Given the description of an element on the screen output the (x, y) to click on. 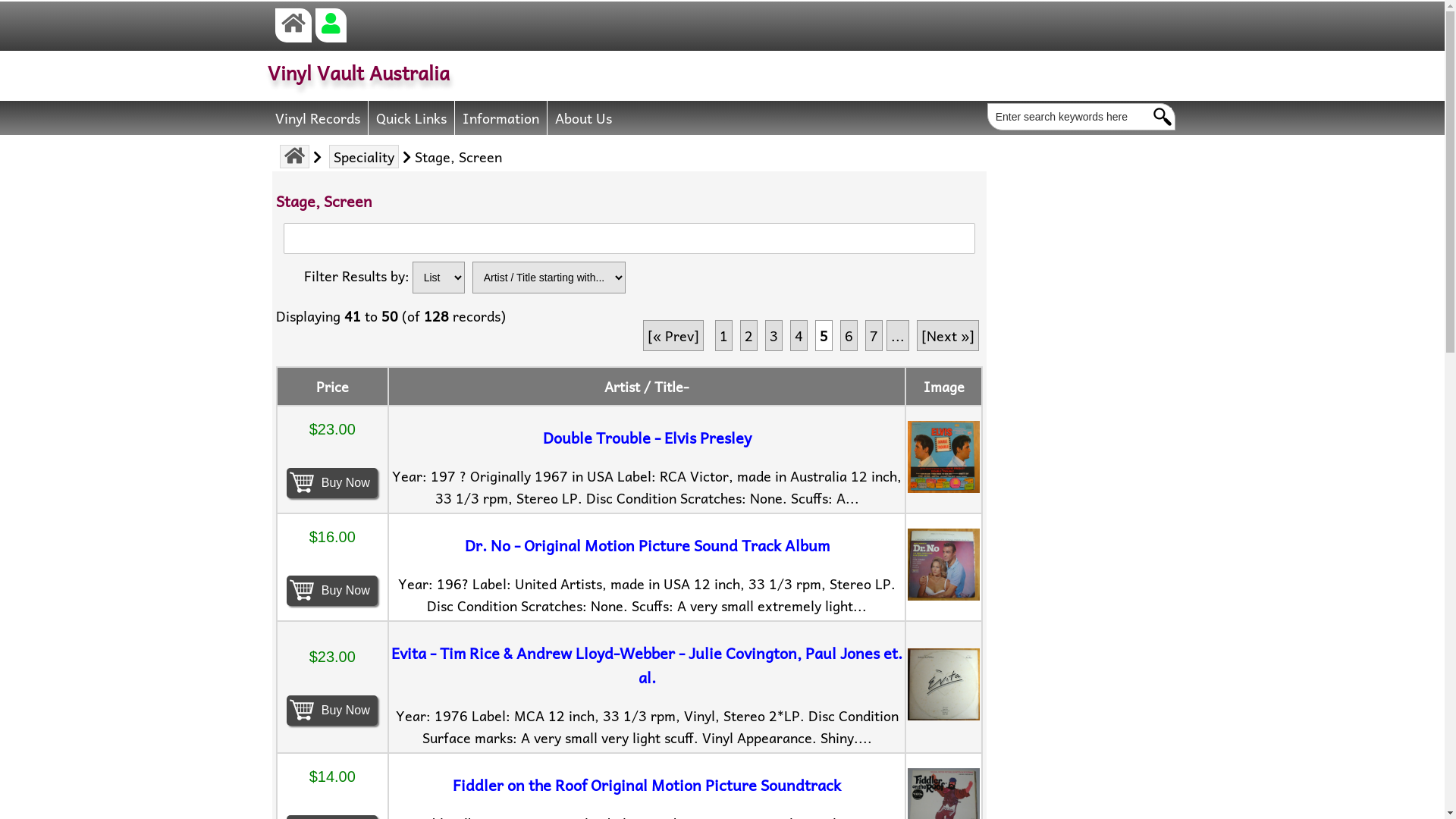
7 Element type: text (873, 335)
 Buy Now  Element type: text (332, 708)
4 Element type: text (798, 335)
Fiddler on the Roof Original Motion Picture Soundtrack Element type: text (646, 784)
Log In Element type: hover (330, 23)
 Buy Now  Element type: text (332, 588)
2 Element type: text (748, 335)
Dr. No - Original Motion Picture Sound Track Album Element type: text (646, 545)
Dr. No - Original Motion Picture Sound Track Album Element type: hover (943, 563)
... Element type: text (897, 335)
Price Element type: text (332, 386)
Information Element type: text (501, 117)
Double Trouble - Elvis Presley Element type: hover (943, 456)
Artist / Title- Element type: text (646, 386)
Speciality Element type: text (363, 155)
Quick Links Element type: text (411, 117)
1 Element type: text (723, 335)
Vinyl Records Element type: text (316, 117)
About Us Element type: text (583, 117)
6 Element type: text (848, 335)
 Buy Now  Element type: text (332, 481)
Double Trouble - Elvis Presley Element type: text (646, 437)
Home Element type: hover (292, 23)
3 Element type: text (773, 335)
